Given the description of an element on the screen output the (x, y) to click on. 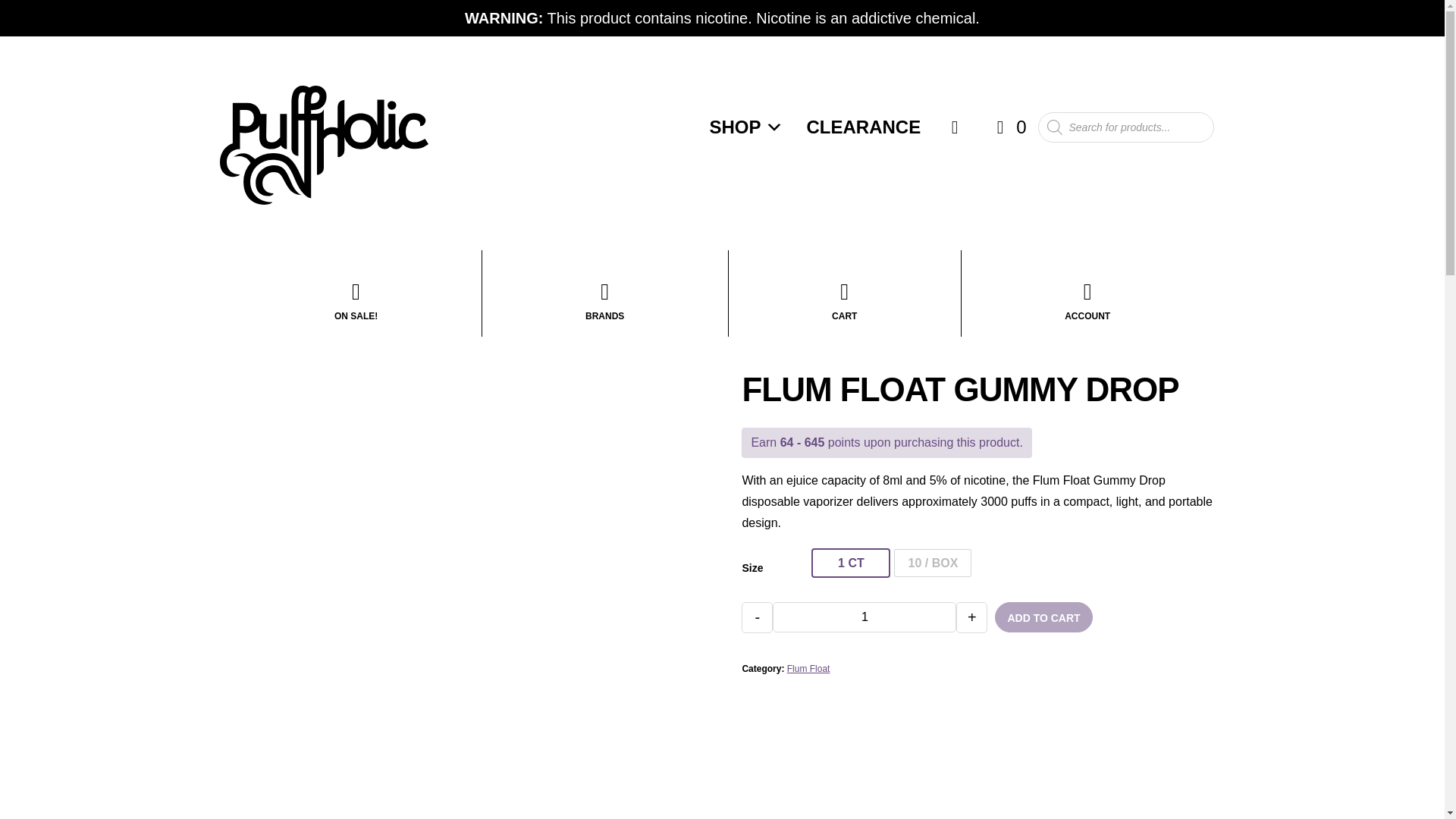
10 count box (933, 562)
1 (864, 616)
Qty (864, 616)
1 count (850, 562)
